Given the description of an element on the screen output the (x, y) to click on. 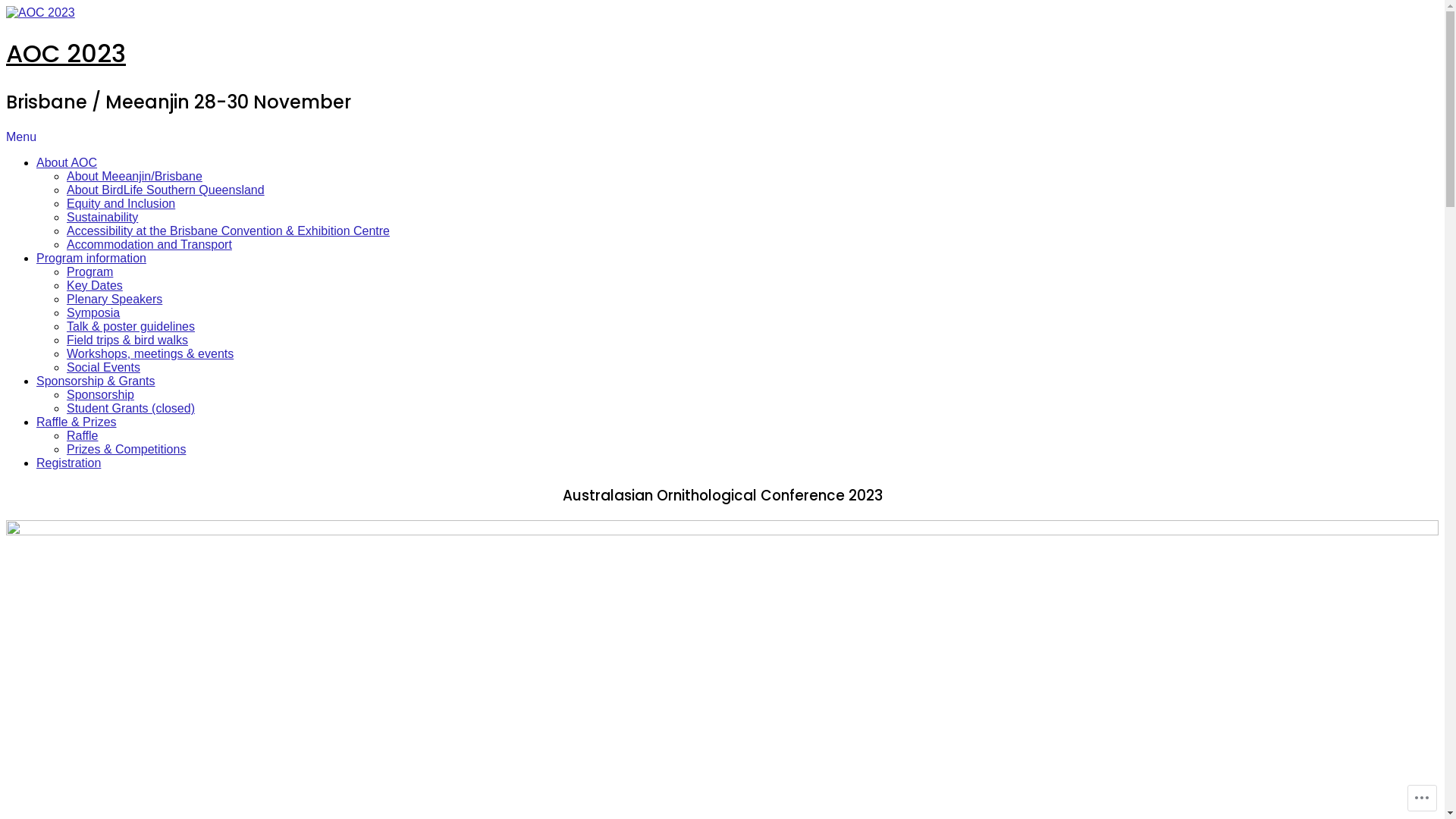
Menu Element type: text (21, 136)
Field trips & bird walks Element type: text (127, 339)
Sponsorship & Grants Element type: text (95, 380)
AOC 2023 Element type: text (65, 53)
Accommodation and Transport Element type: text (149, 244)
Program Element type: text (89, 271)
Workshops, meetings & events Element type: text (149, 353)
Symposia Element type: text (92, 312)
Program information Element type: text (91, 257)
Prizes & Competitions Element type: text (125, 448)
Raffle & Prizes Element type: text (76, 421)
About BirdLife Southern Queensland Element type: text (165, 189)
About Meeanjin/Brisbane Element type: text (134, 175)
Accessibility at the Brisbane Convention & Exhibition Centre Element type: text (227, 230)
Talk & poster guidelines Element type: text (130, 326)
Sustainability Element type: text (102, 216)
Student Grants (closed) Element type: text (130, 407)
Raffle Element type: text (82, 435)
Sponsorship Element type: text (100, 394)
Social Events Element type: text (103, 366)
Equity and Inclusion Element type: text (120, 203)
About AOC Element type: text (66, 162)
Key Dates Element type: text (94, 285)
Registration Element type: text (68, 462)
Plenary Speakers Element type: text (114, 298)
